Given the description of an element on the screen output the (x, y) to click on. 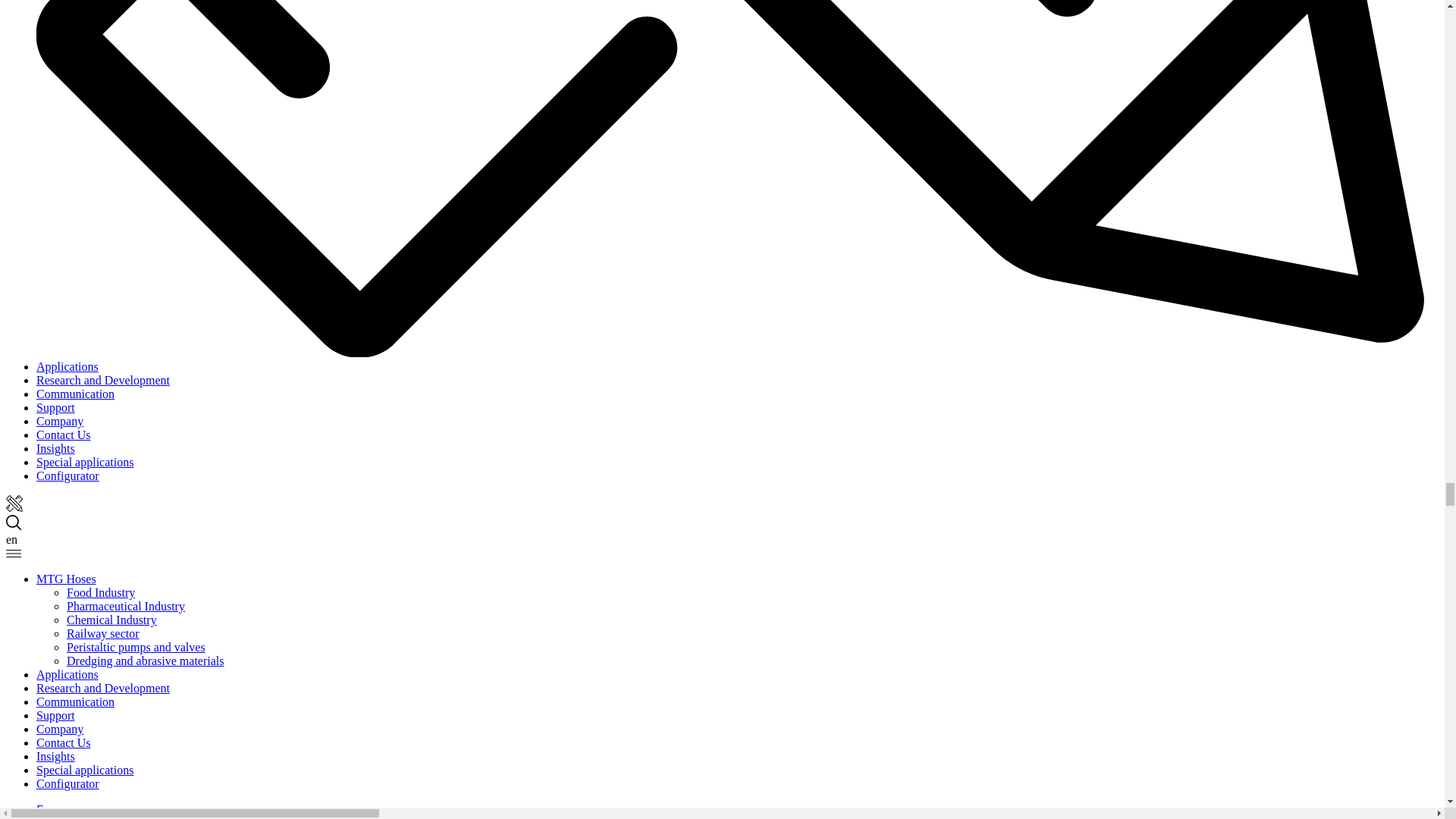
Applications (67, 366)
Communication (75, 393)
MTG Hoses (66, 578)
Configurator (67, 475)
Pharmaceutical Industry (125, 605)
Research and Development (103, 379)
Contact Us (63, 434)
Food Industry (100, 592)
Chemical Industry (111, 619)
Special applications (84, 461)
Company (59, 420)
Support (55, 407)
Insights (55, 448)
